Given the description of an element on the screen output the (x, y) to click on. 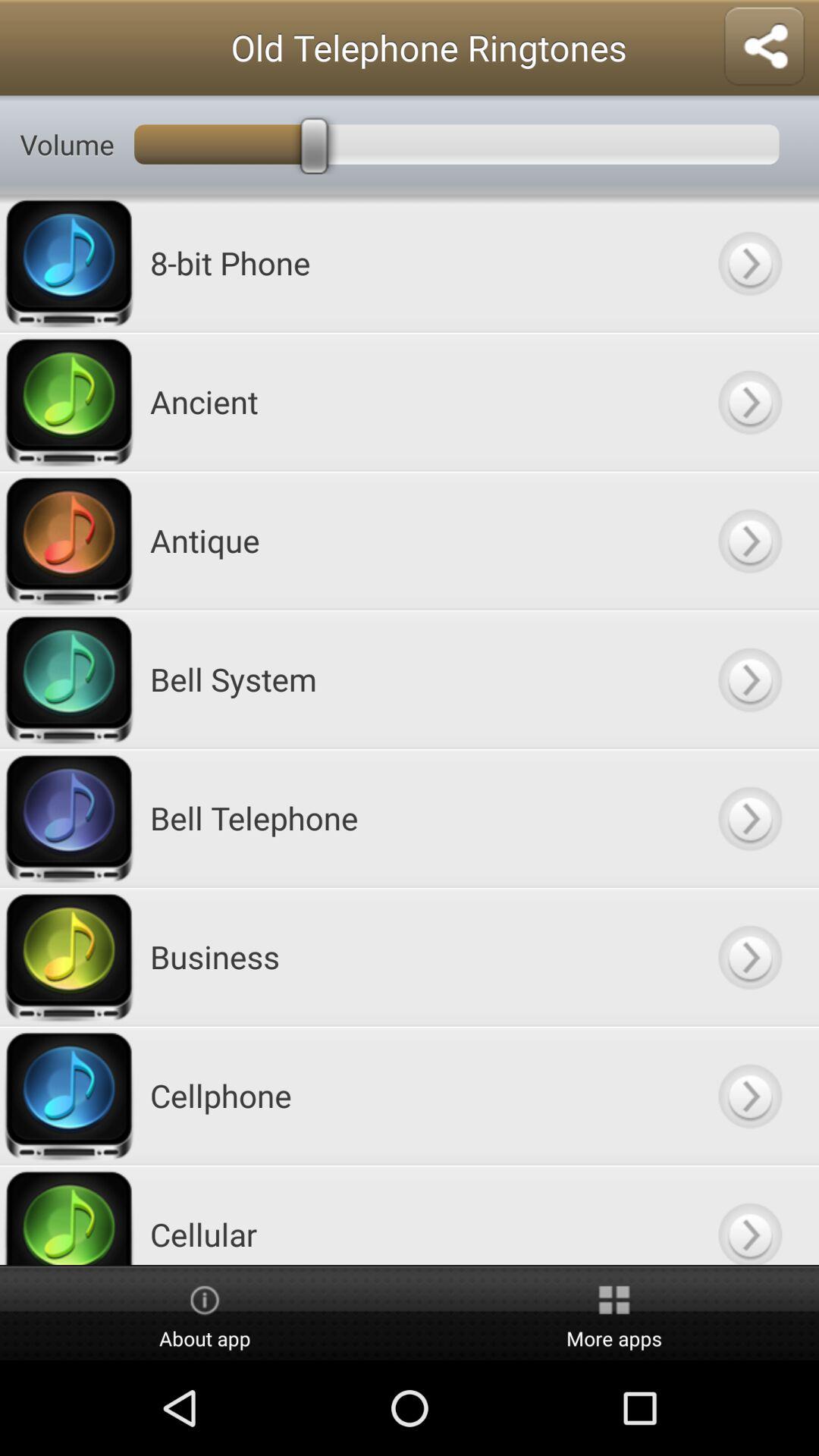
play bell telephone sound (749, 818)
